Given the description of an element on the screen output the (x, y) to click on. 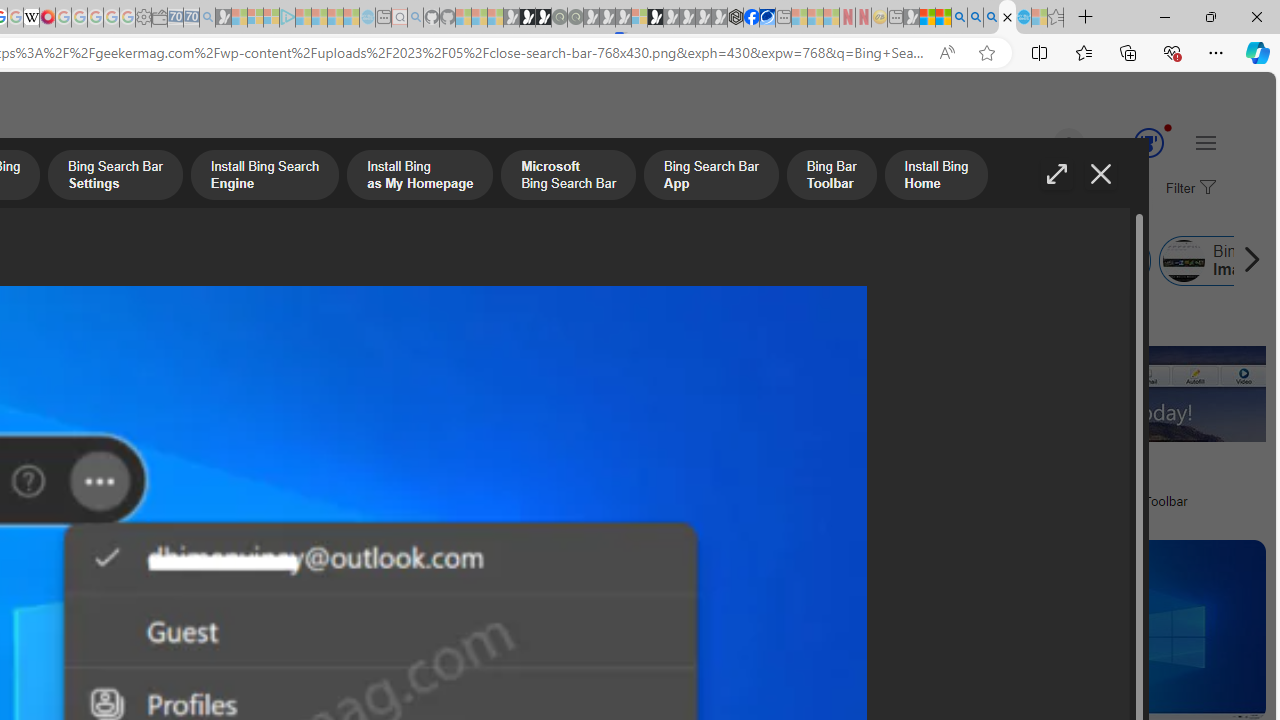
Install Bing Home (676, 260)
Filter (1188, 189)
